Given the description of an element on the screen output the (x, y) to click on. 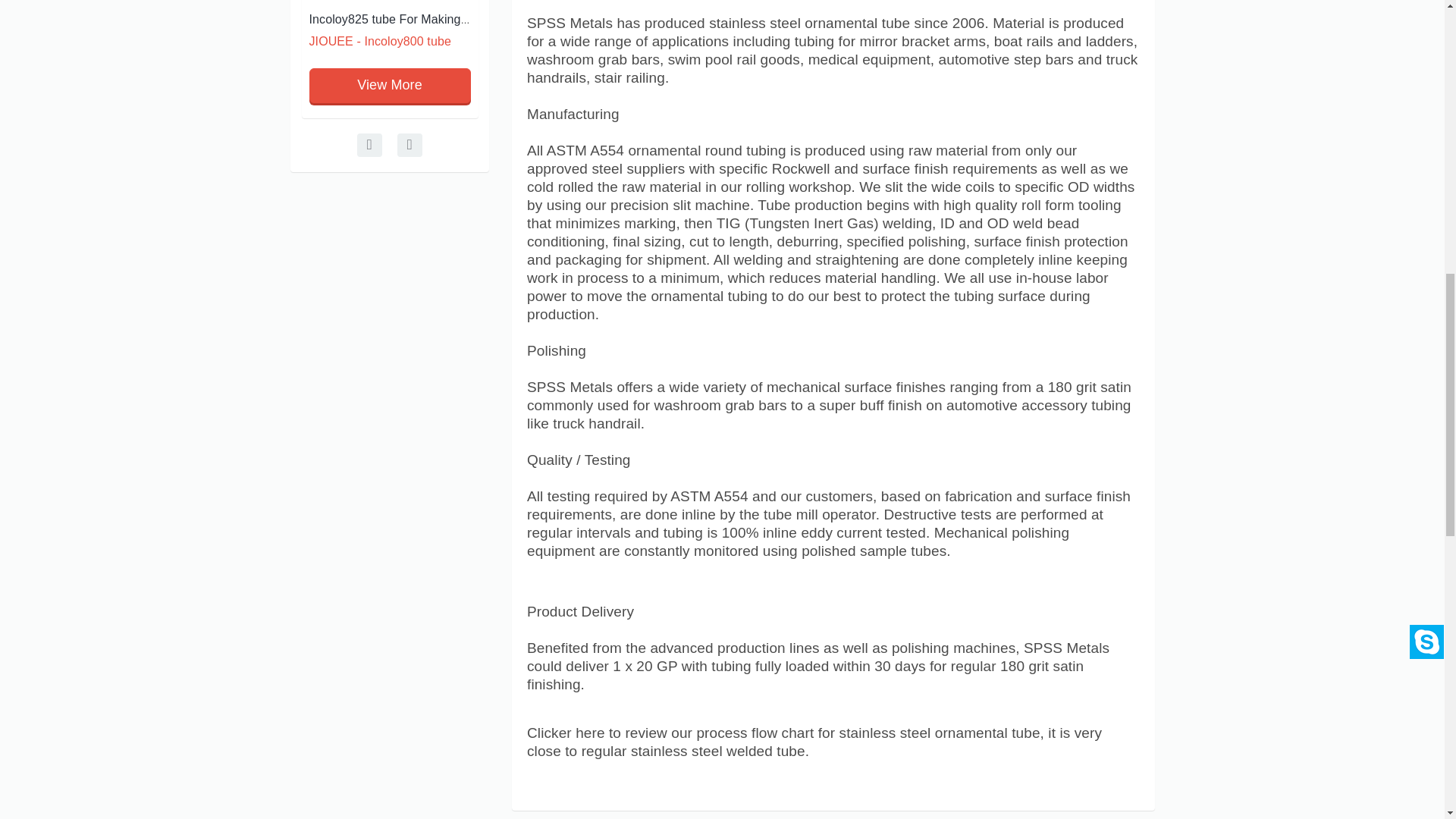
Hastelloy C276 TUBE,Nickel Alloy Tube (242, 19)
Hastelloy C276 tube For Making Heat Exchanger (242, 19)
View More (389, 85)
Incoloy825 tube For Making Heating Elements (434, 19)
